Given the description of an element on the screen output the (x, y) to click on. 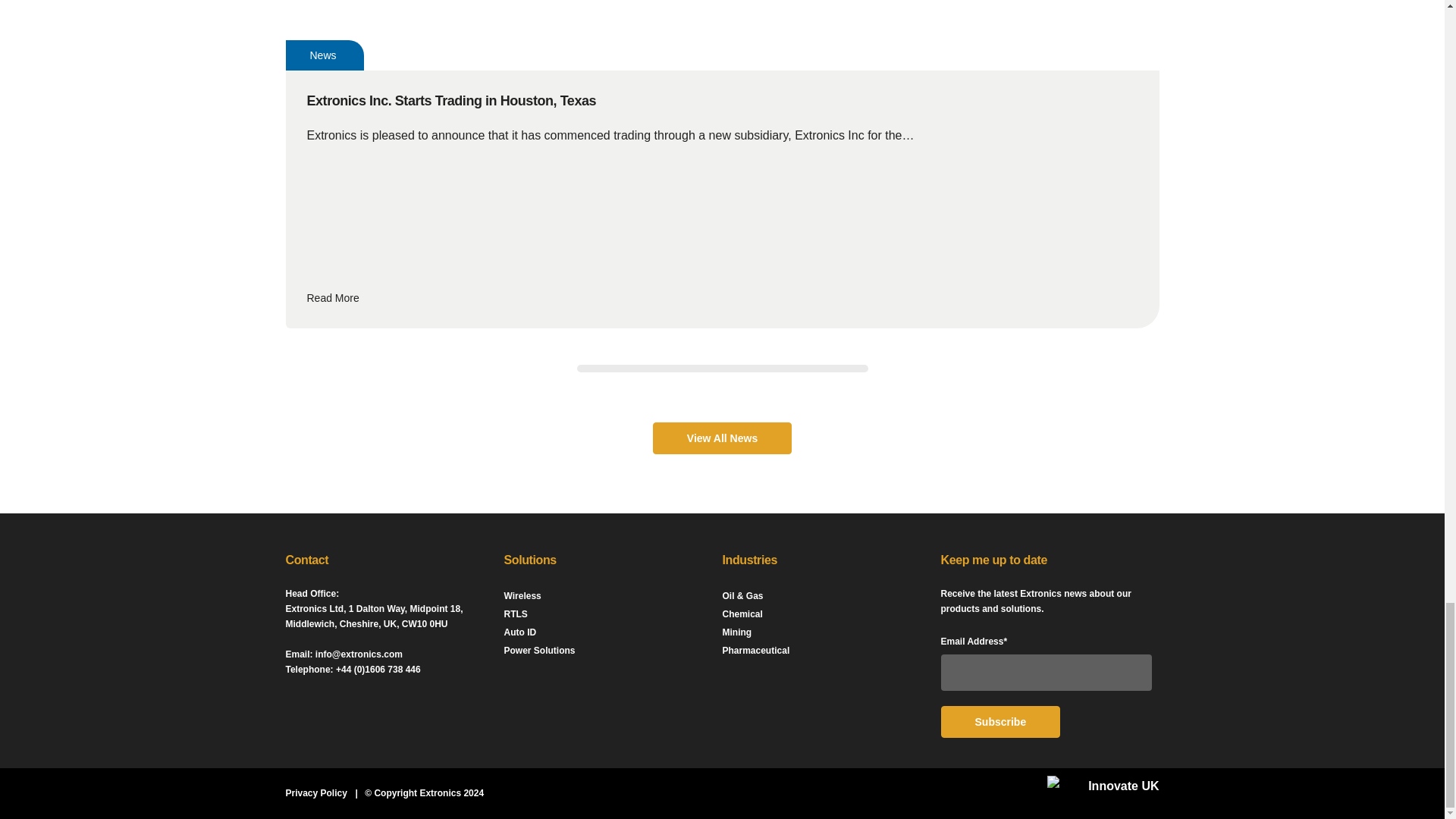
Subscribe (999, 721)
Read Extronics Inc. Starts Trading in Houston, Texas (721, 298)
Connect with us on LinkedIn (287, 706)
Watch us on YouTube (315, 706)
